Given the description of an element on the screen output the (x, y) to click on. 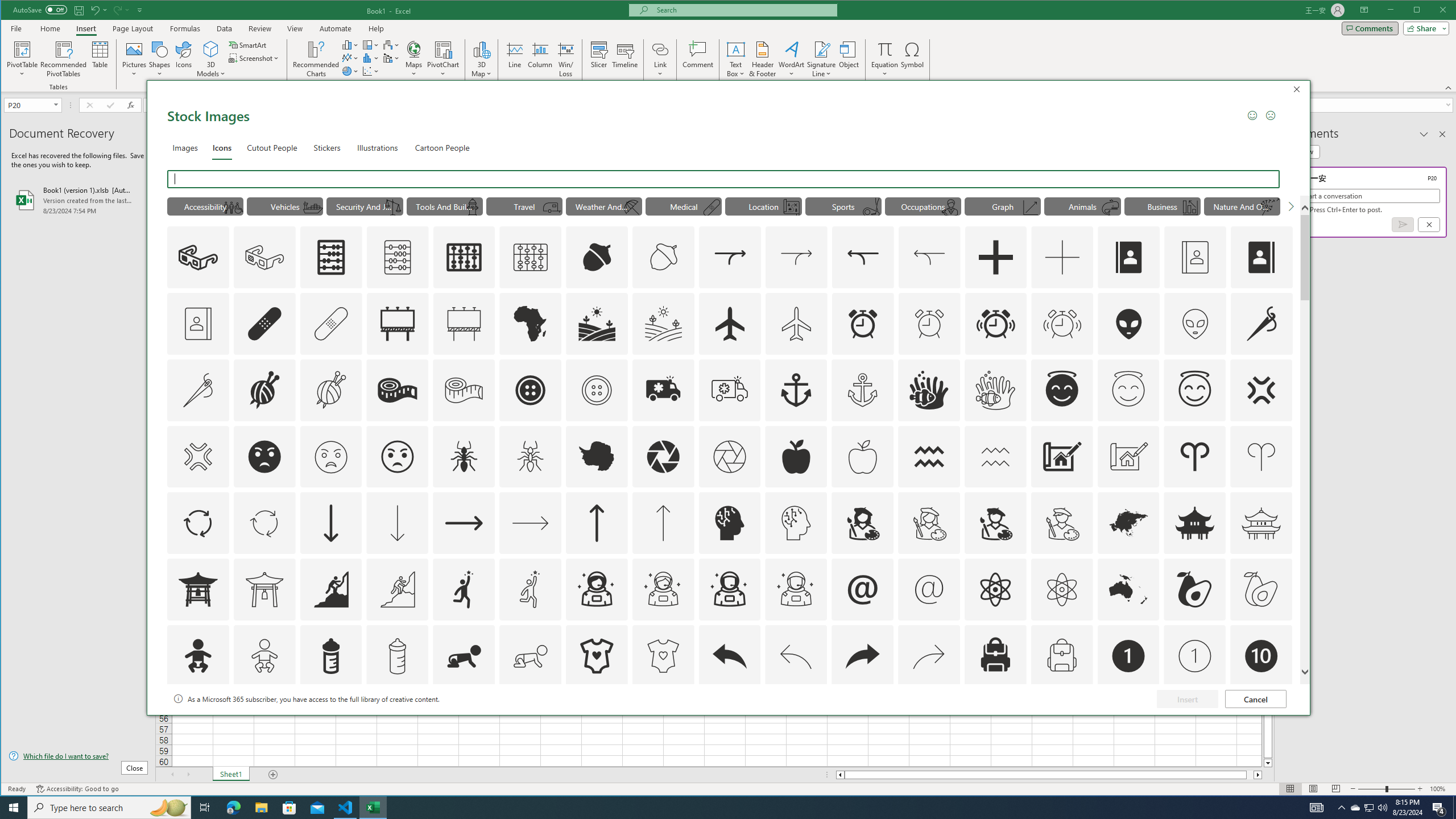
AutomationID: Icons_Badge4_M (596, 721)
Table (100, 59)
Draw Horizontal Text Box (735, 48)
Signature Line (821, 59)
AutomationID: Icons_ArrowRight (464, 522)
AutomationID: Icons_At (863, 589)
Post comment (Ctrl + Enter) (1402, 224)
